Given the description of an element on the screen output the (x, y) to click on. 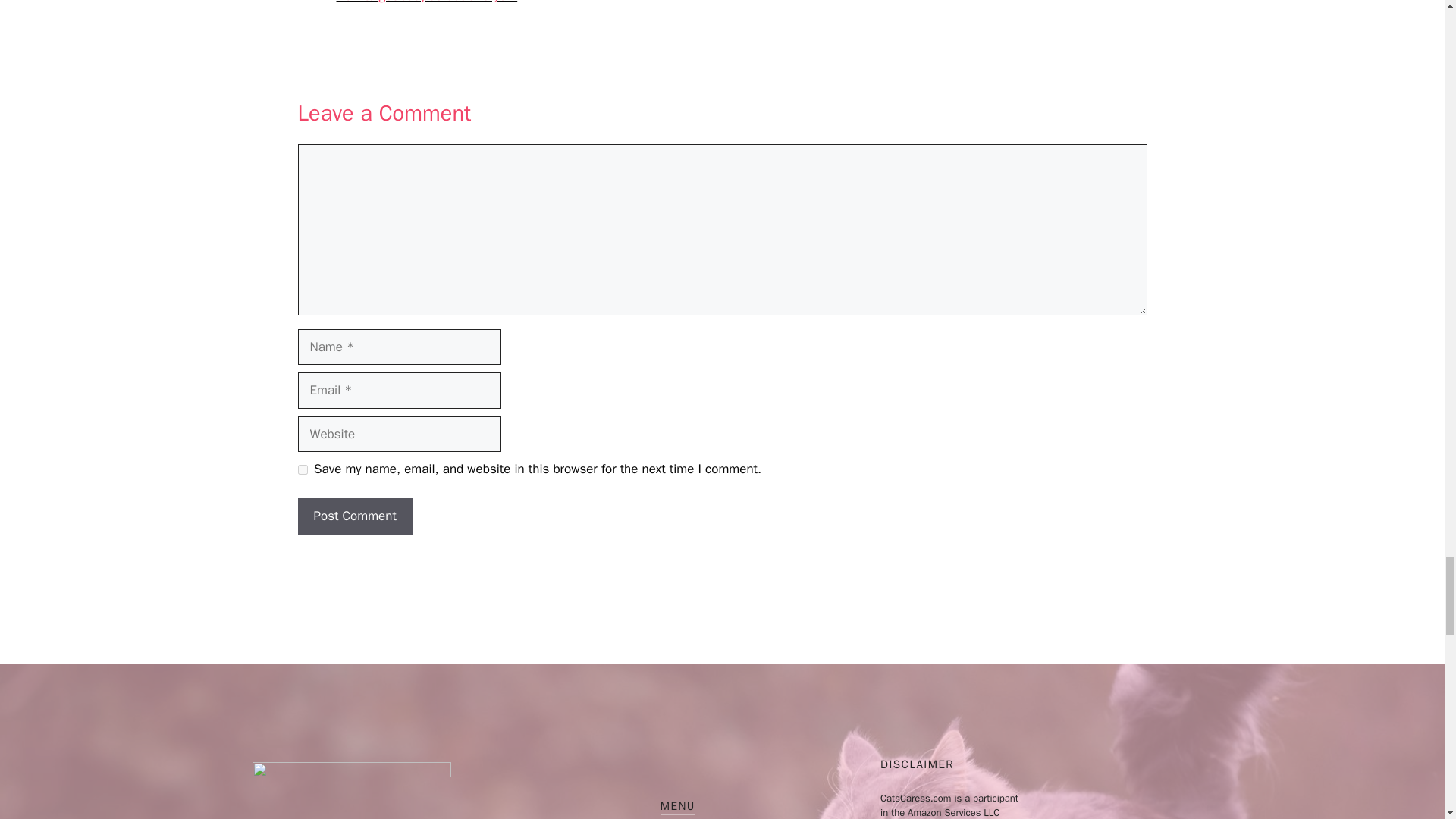
yes (302, 470)
Post Comment (354, 515)
How to get cat pee out of dryer? (427, 2)
Post Comment (354, 515)
